Given the description of an element on the screen output the (x, y) to click on. 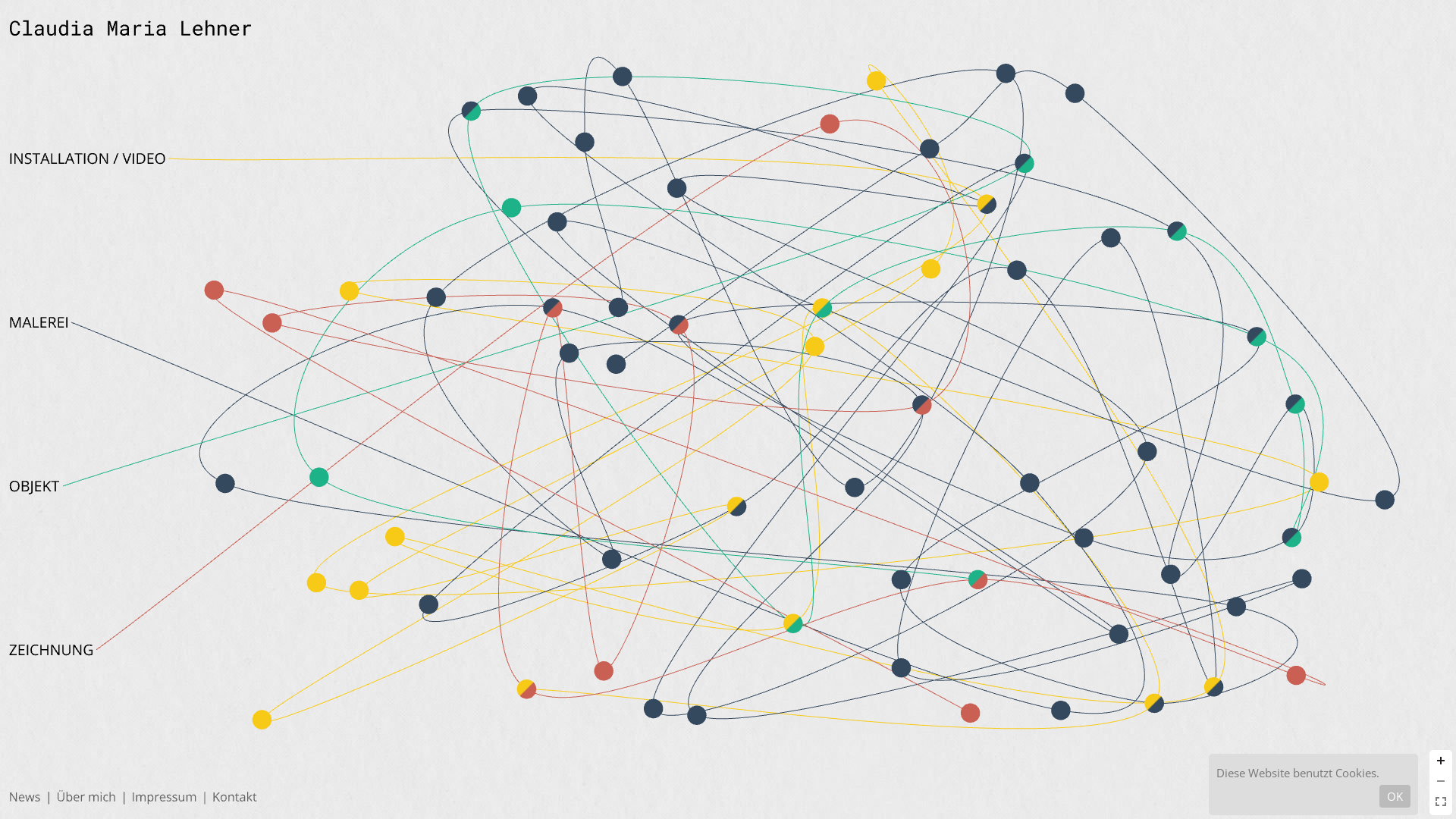
OK Element type: text (1394, 795)
